Given the description of an element on the screen output the (x, y) to click on. 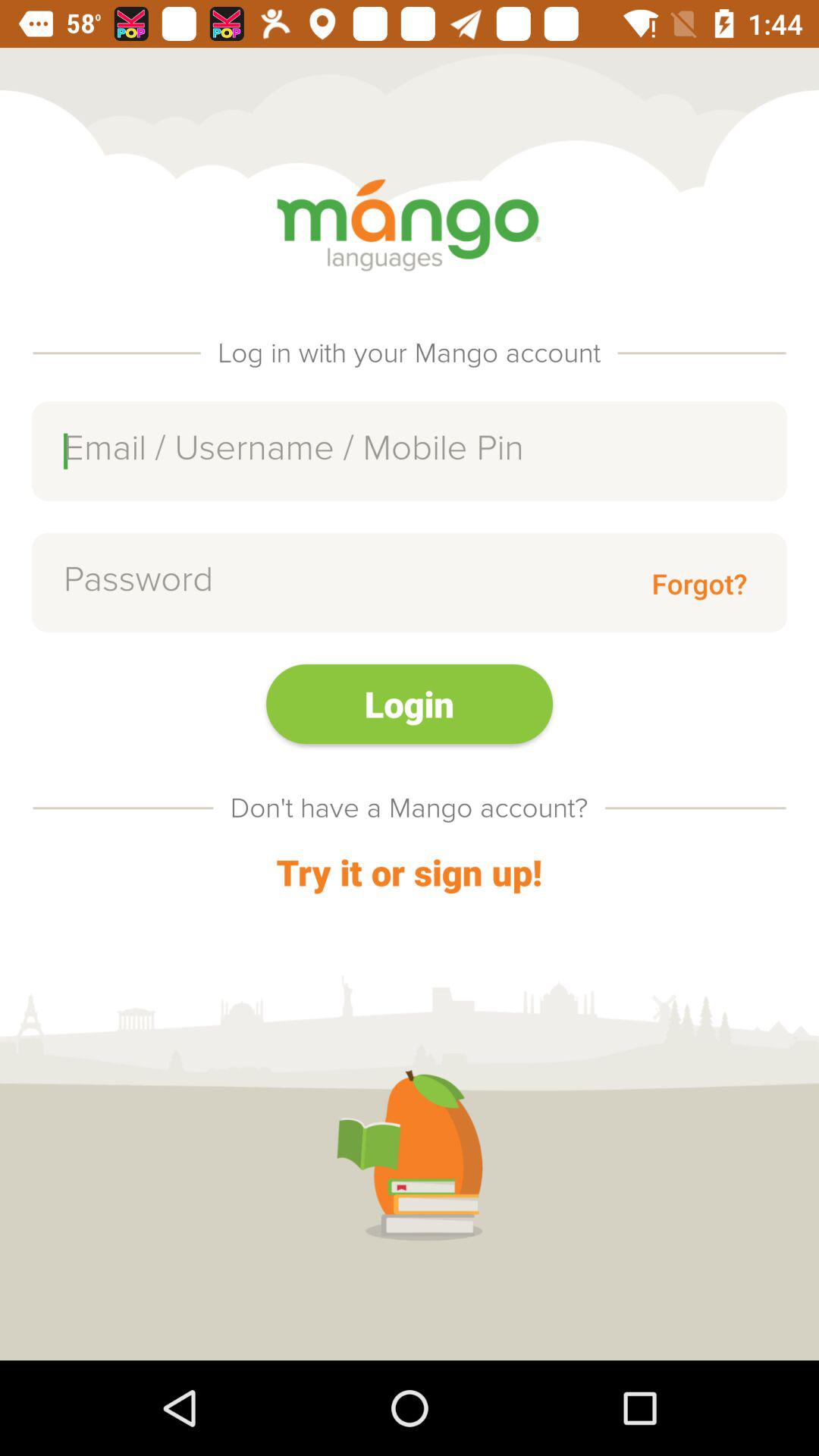
turn on the forgot? icon (699, 582)
